Given the description of an element on the screen output the (x, y) to click on. 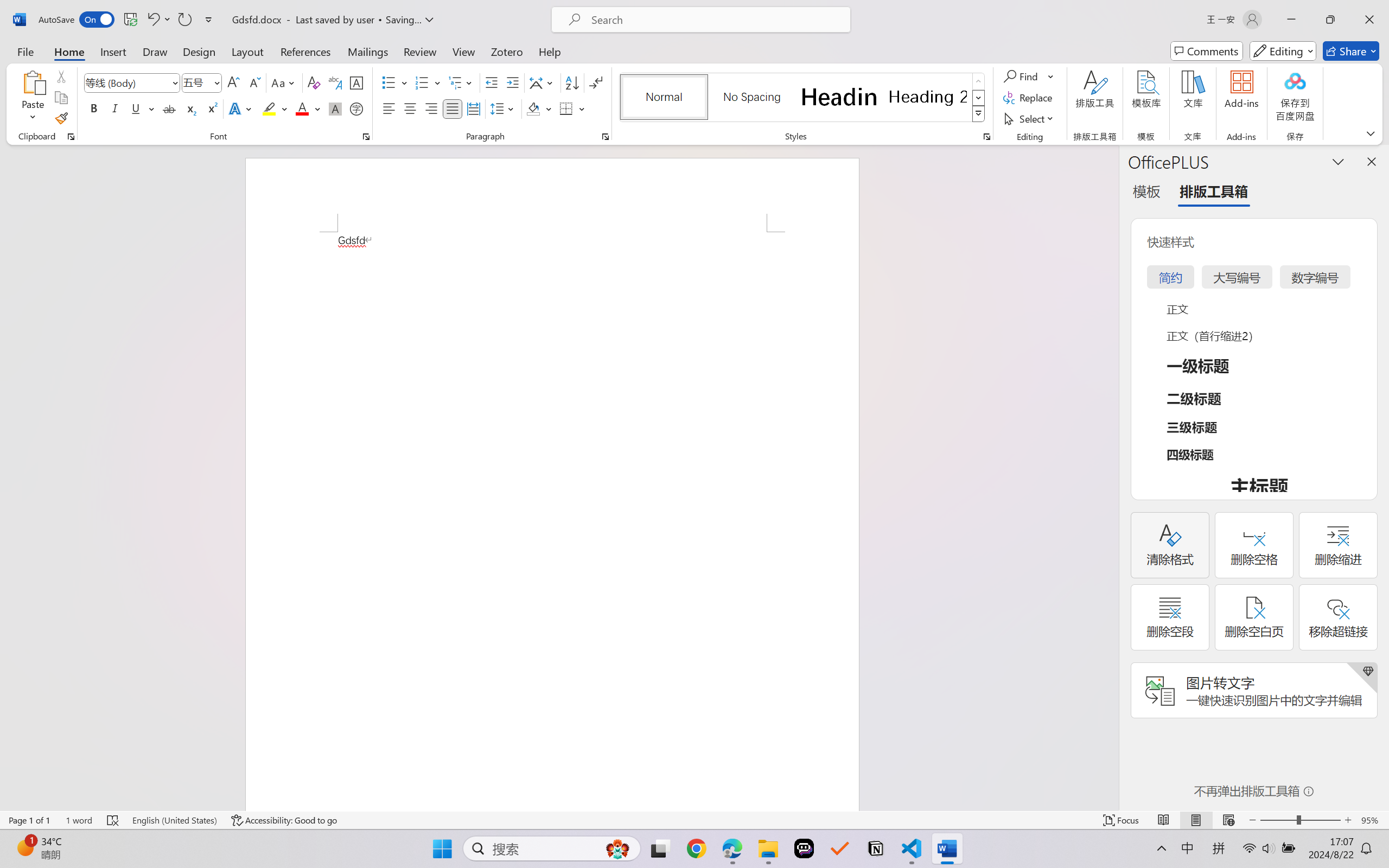
Zoom 95% (1372, 819)
Spelling and Grammar Check Errors (113, 819)
Repeat Clear Formatting (184, 19)
